Given the description of an element on the screen output the (x, y) to click on. 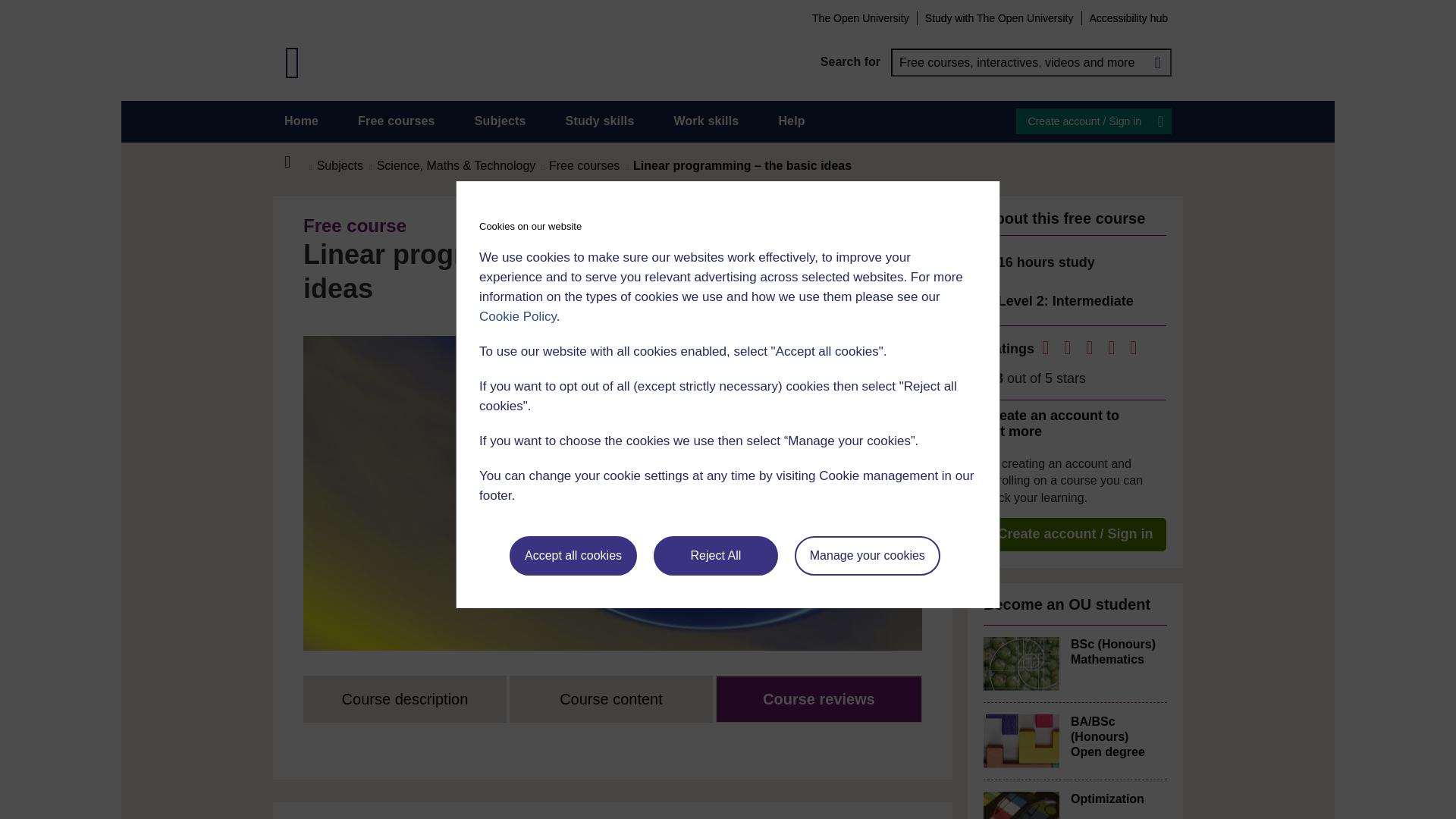
Help (791, 120)
Search (1157, 62)
Course content (611, 698)
Home (300, 120)
The Open University (860, 17)
Free courses (396, 120)
Study skills (600, 120)
Accessibility hub (1129, 17)
Course reviews (818, 698)
Work skills (705, 120)
